Given the description of an element on the screen output the (x, y) to click on. 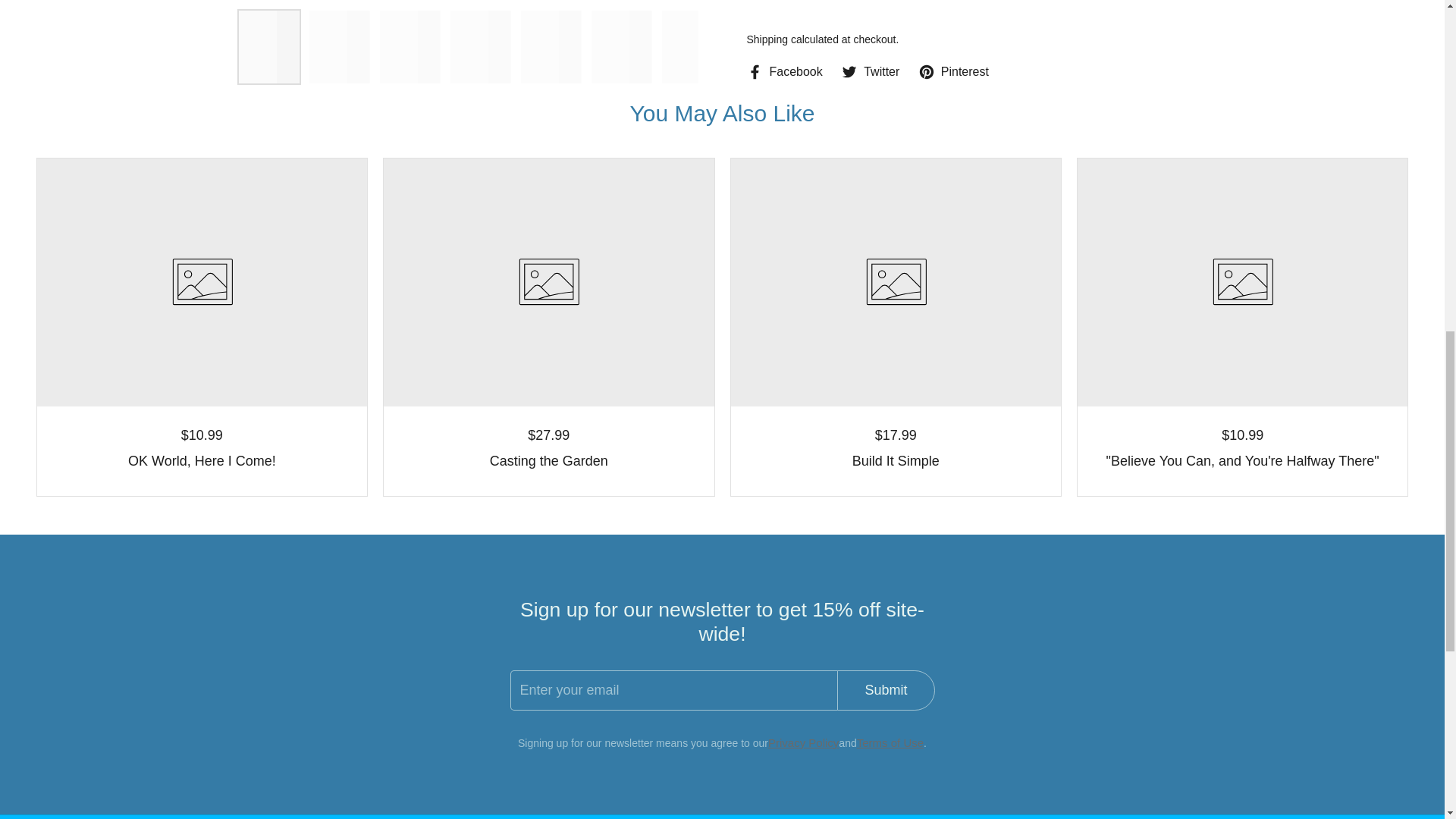
Share on facebook (783, 40)
Casting the Garden (548, 461)
"Believe You Can, and You're Halfway There" (1242, 461)
OK World, Here I Come! (201, 461)
Share on pinterest (953, 40)
Build It Simple (895, 461)
Share on twitter (870, 40)
